Given the description of an element on the screen output the (x, y) to click on. 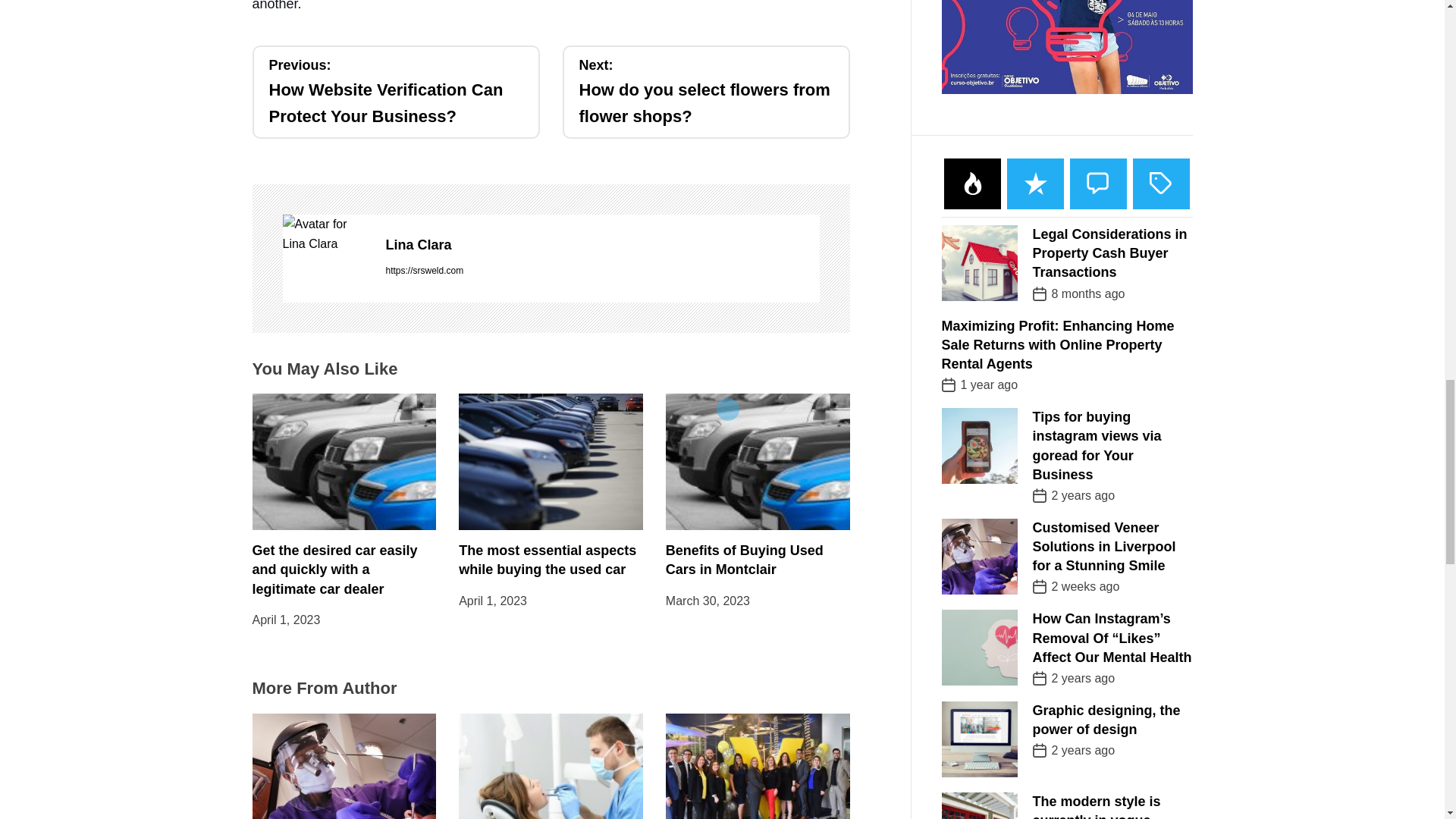
The most essential aspects while buying the used car (547, 559)
Lina Clara (325, 233)
Benefits of Buying Used Cars in Montclair (744, 559)
Lina Clara (601, 245)
Lina Clara (601, 245)
